Given the description of an element on the screen output the (x, y) to click on. 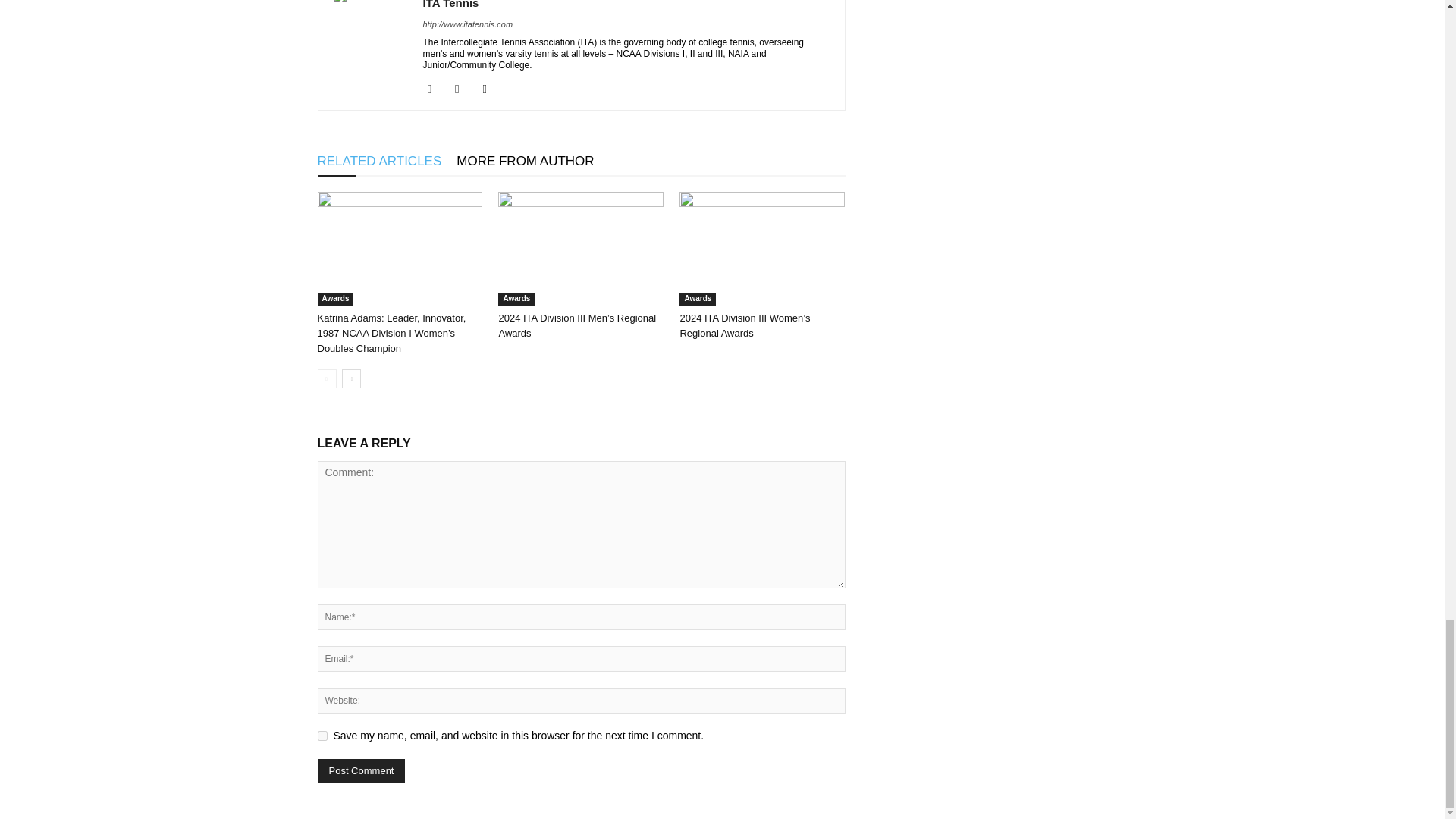
Post Comment (360, 770)
yes (321, 736)
